Given the description of an element on the screen output the (x, y) to click on. 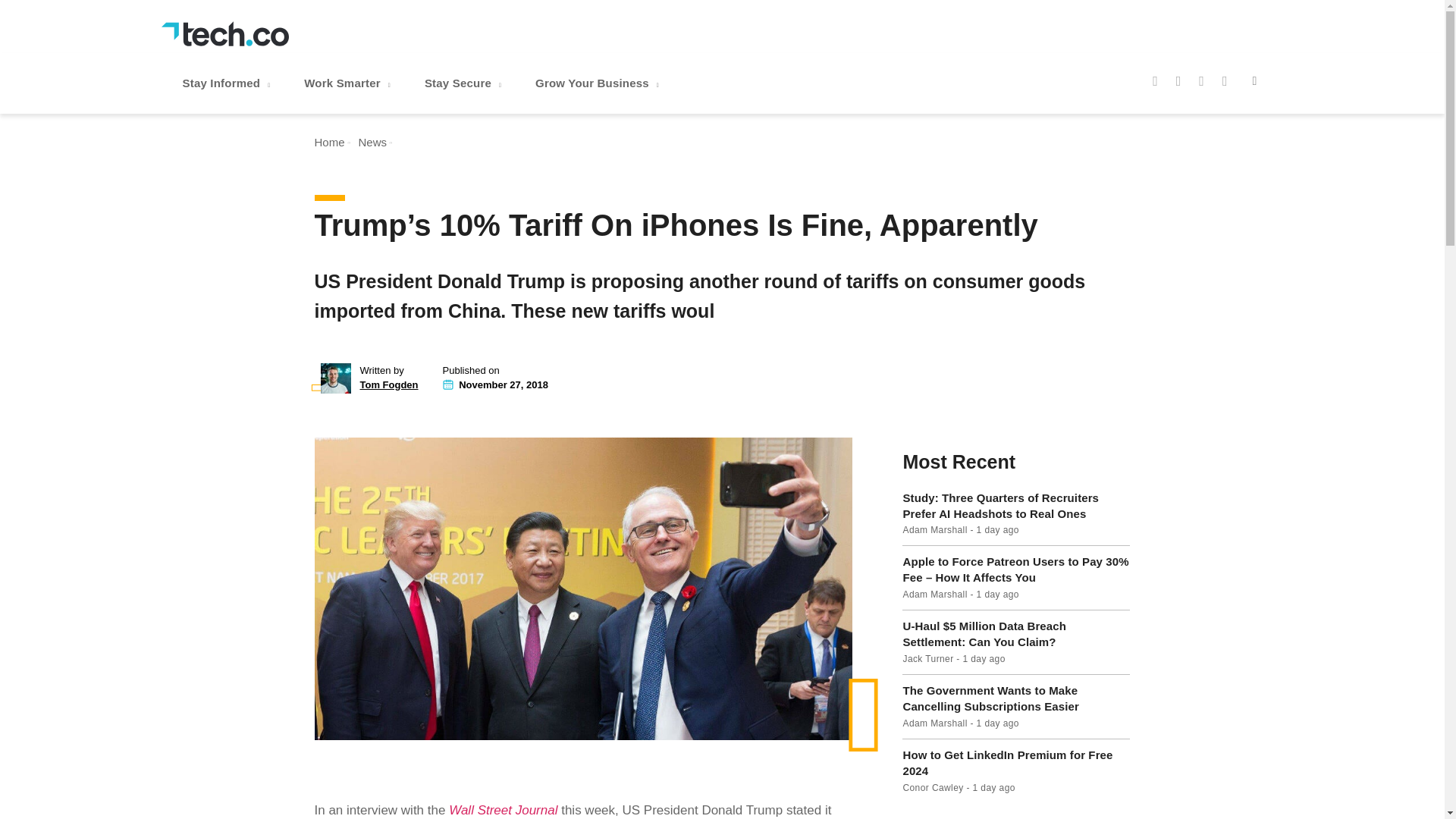
Work Smarter (348, 83)
Grow Your Business (598, 83)
Stay Secure (464, 83)
Stay Informed (227, 83)
